Given the description of an element on the screen output the (x, y) to click on. 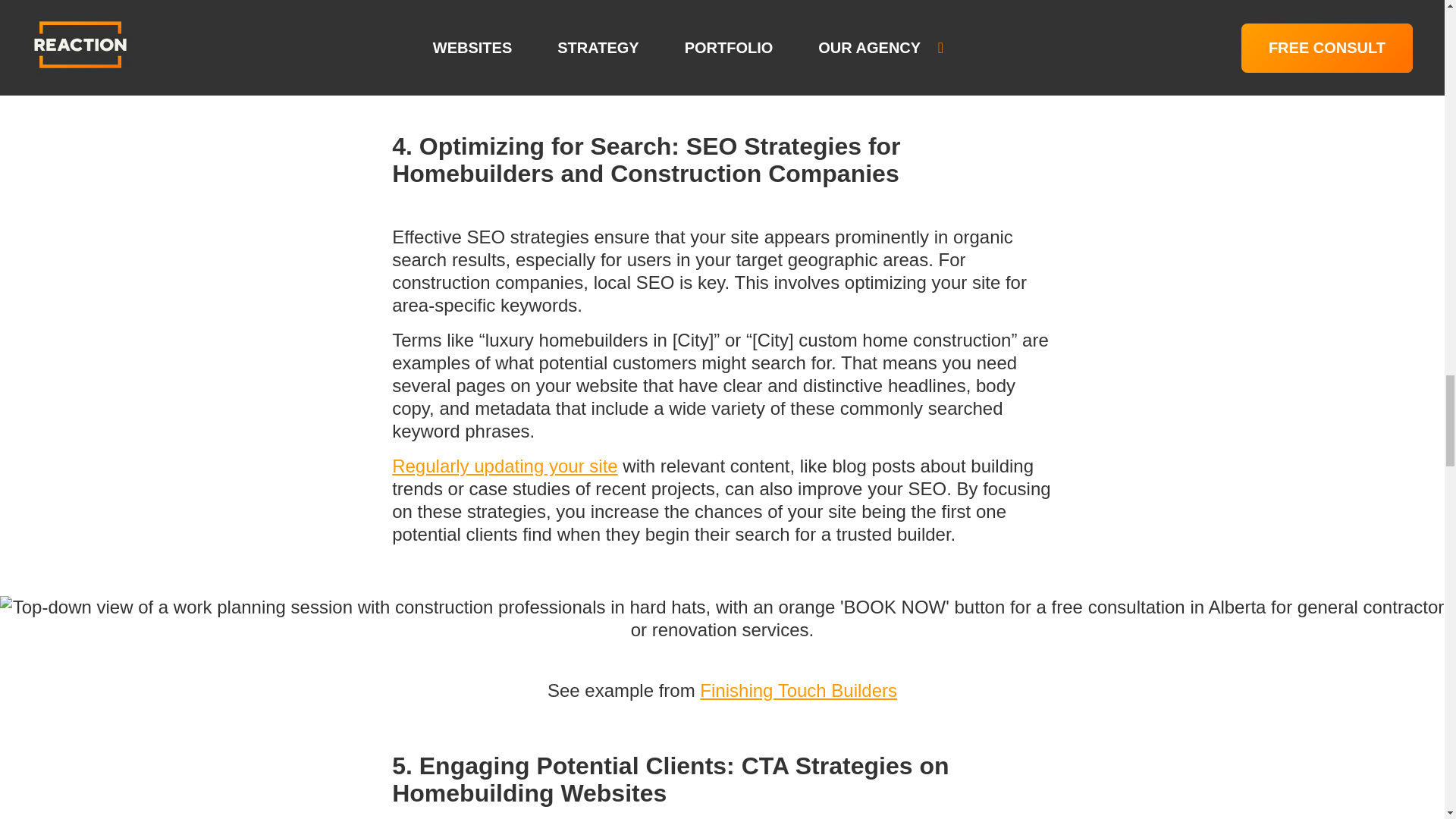
Regularly updating your site (504, 465)
